Given the description of an element on the screen output the (x, y) to click on. 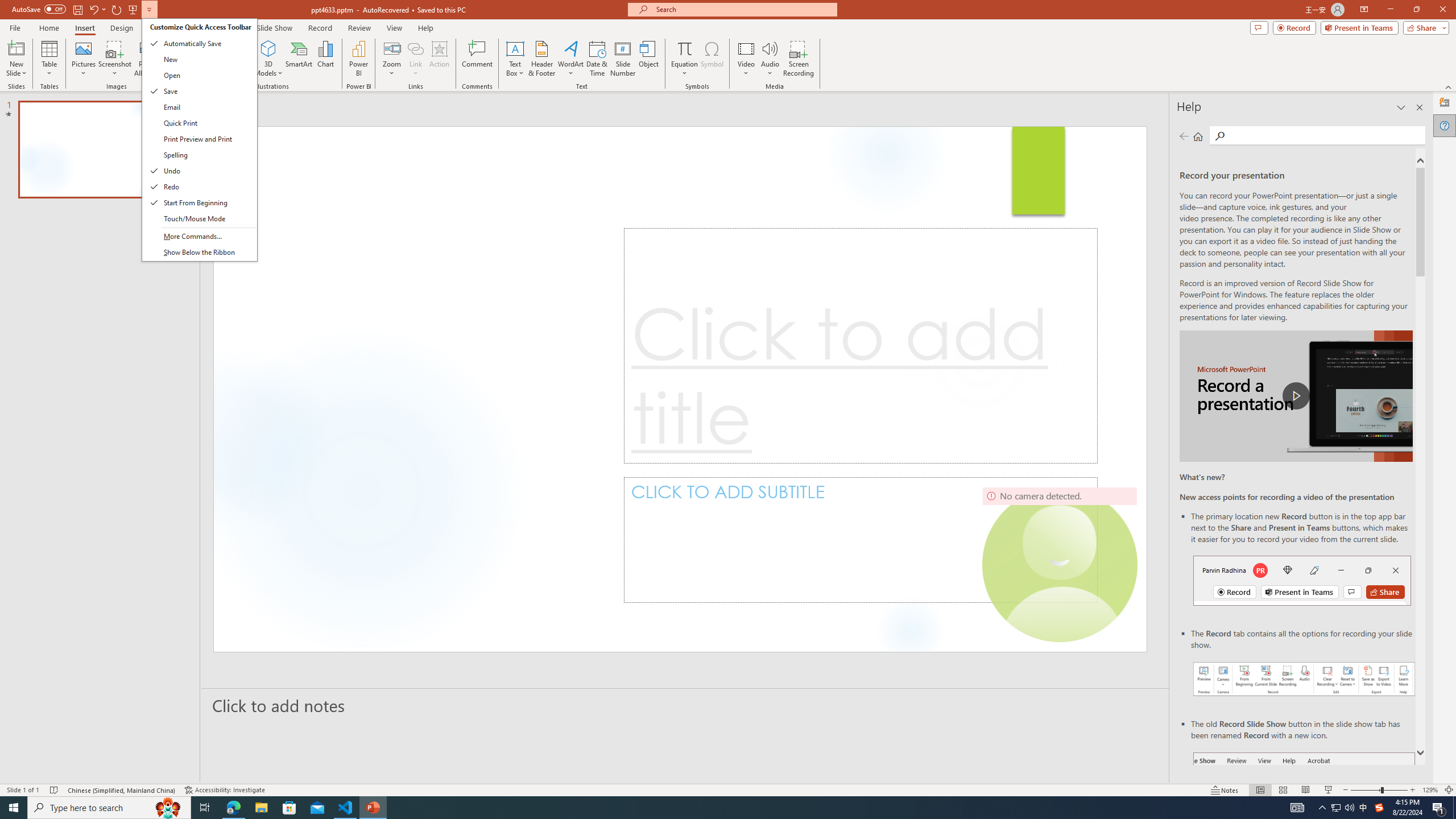
Record your presentations screenshot one (1304, 678)
Action (439, 58)
